Given the description of an element on the screen output the (x, y) to click on. 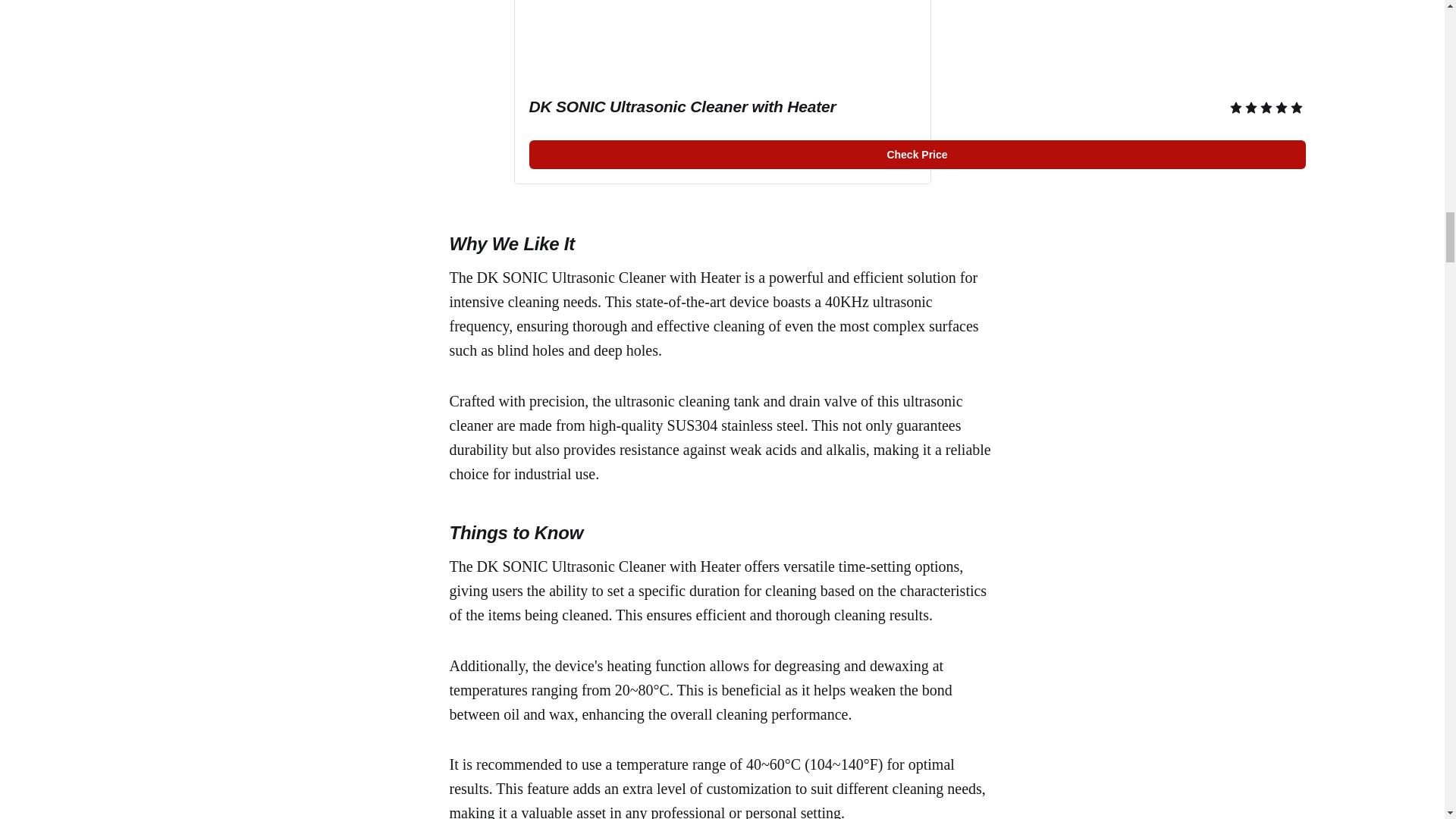
Check Price (917, 154)
